Given the description of an element on the screen output the (x, y) to click on. 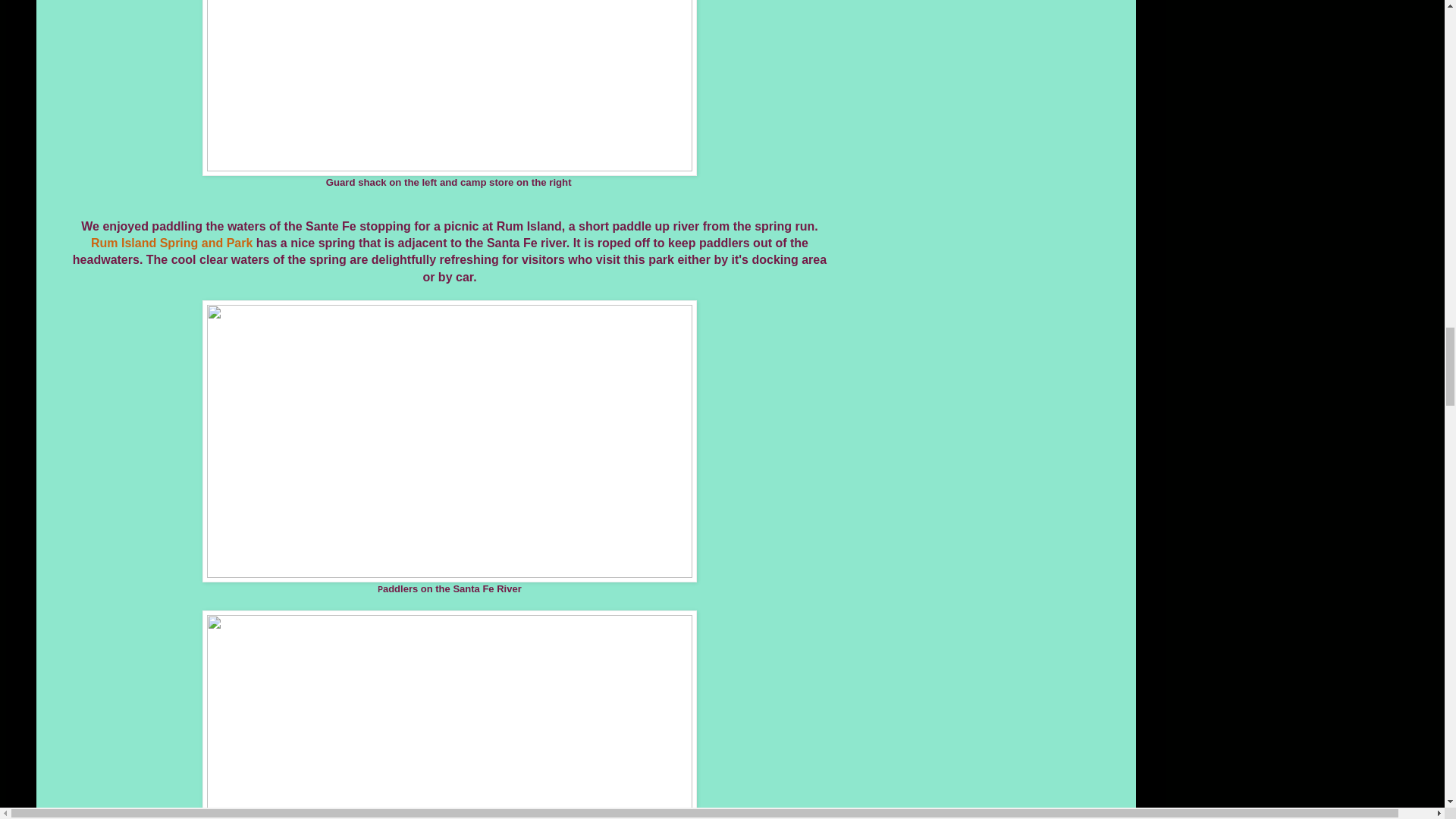
Rum Island Spring and Park (170, 242)
